Given the description of an element on the screen output the (x, y) to click on. 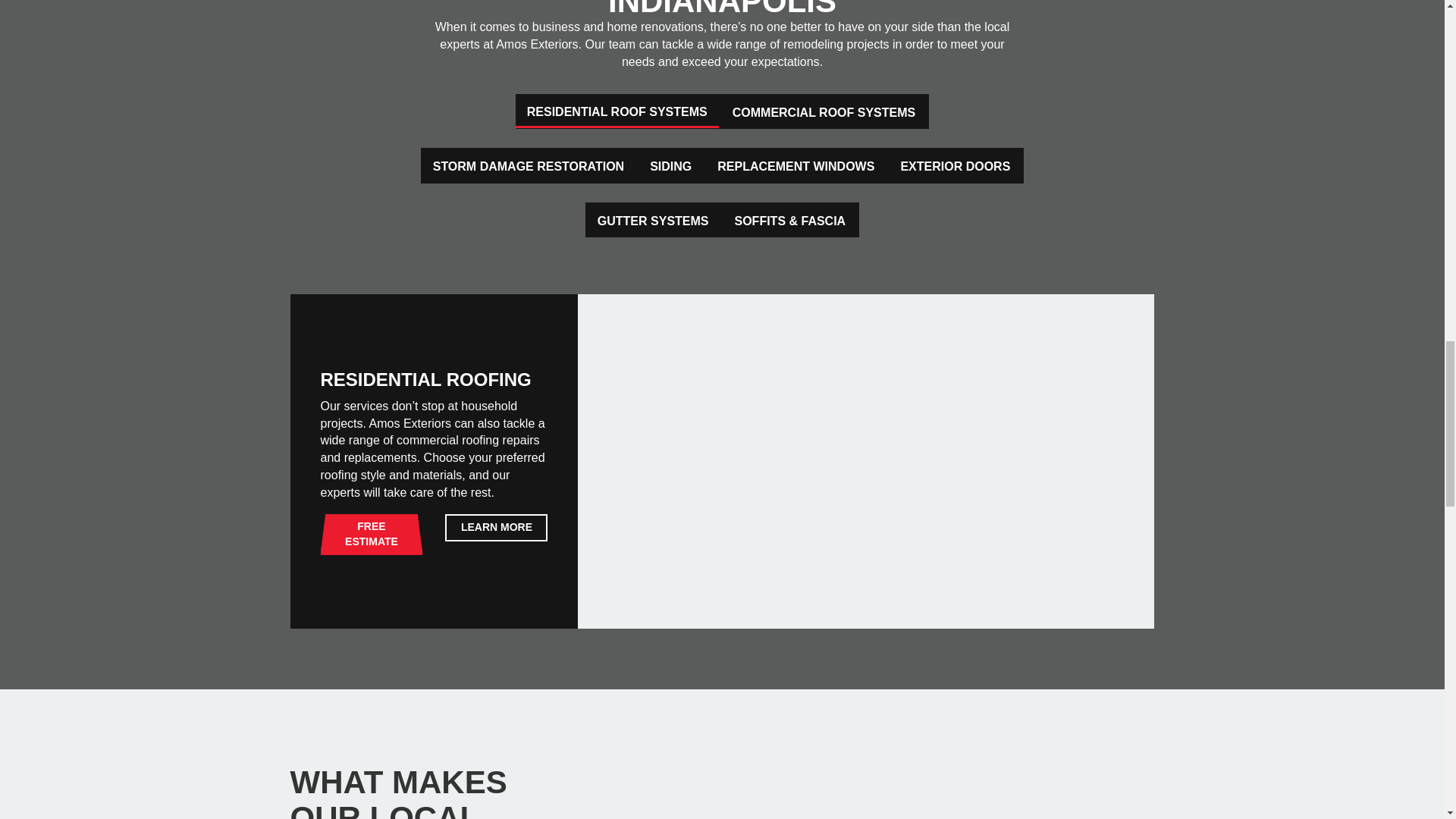
FREE ESTIMATE (371, 534)
